Given the description of an element on the screen output the (x, y) to click on. 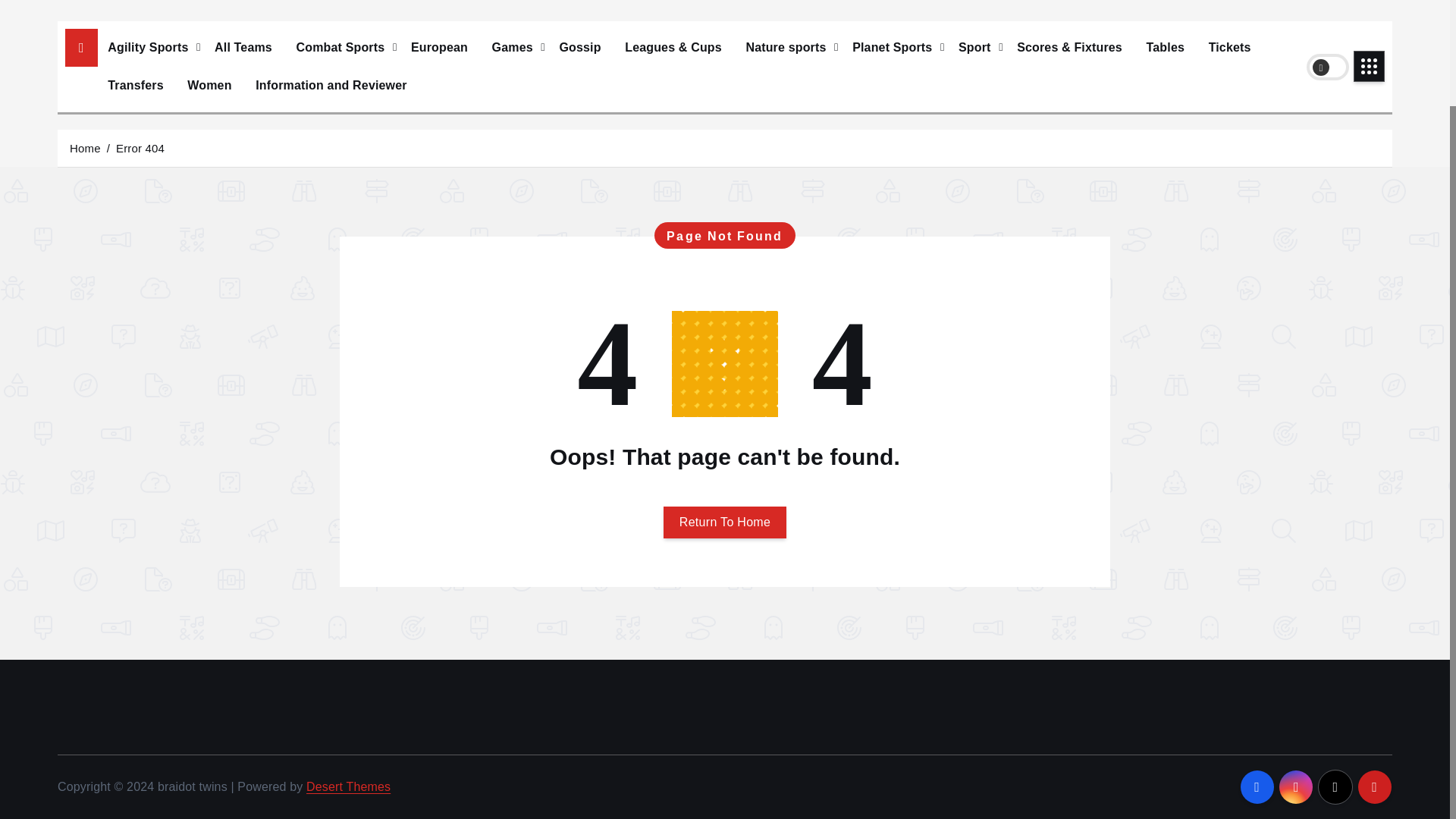
Combat Sports (341, 47)
Agility Sports (148, 47)
Agility Sports (148, 47)
All Teams (243, 47)
All Teams (243, 47)
